Given the description of an element on the screen output the (x, y) to click on. 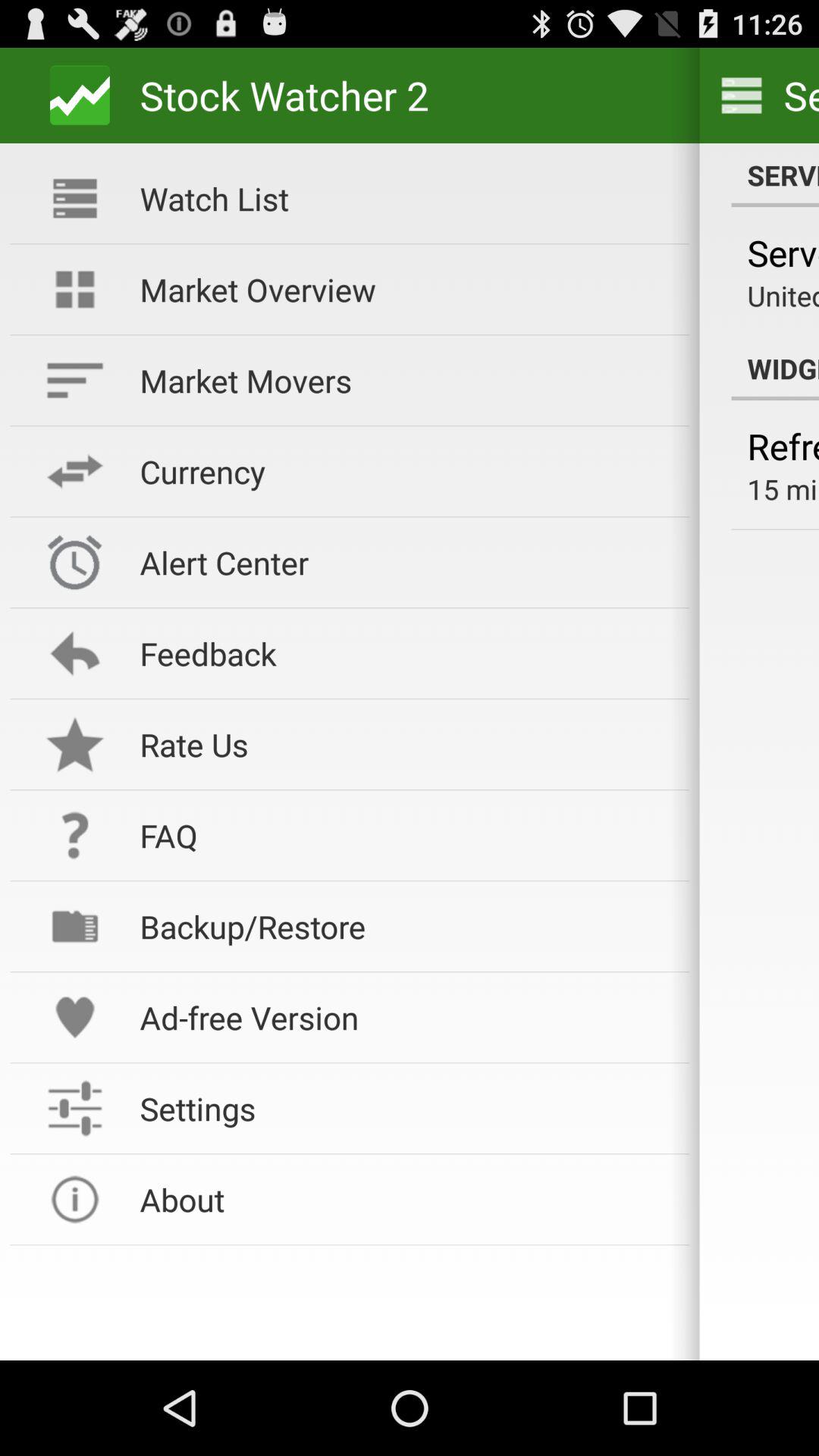
choose item below the server icon (783, 295)
